Given the description of an element on the screen output the (x, y) to click on. 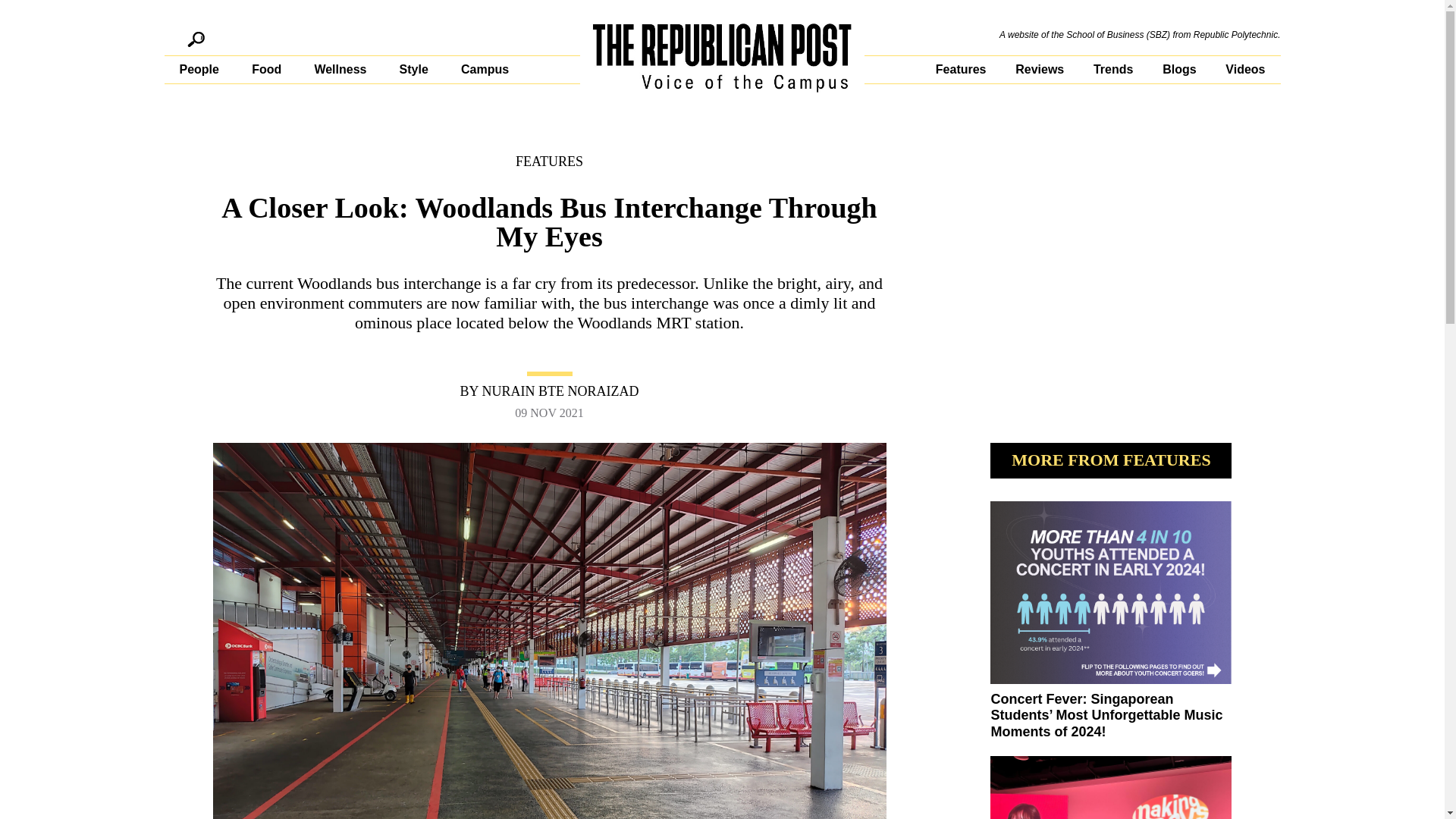
Wellness (340, 69)
Reviews (1039, 69)
Features (961, 69)
Campus (484, 69)
People (198, 69)
Food (266, 69)
Style (413, 69)
Blogs (1178, 69)
Trends (1112, 69)
Videos (1245, 69)
